Given the description of an element on the screen output the (x, y) to click on. 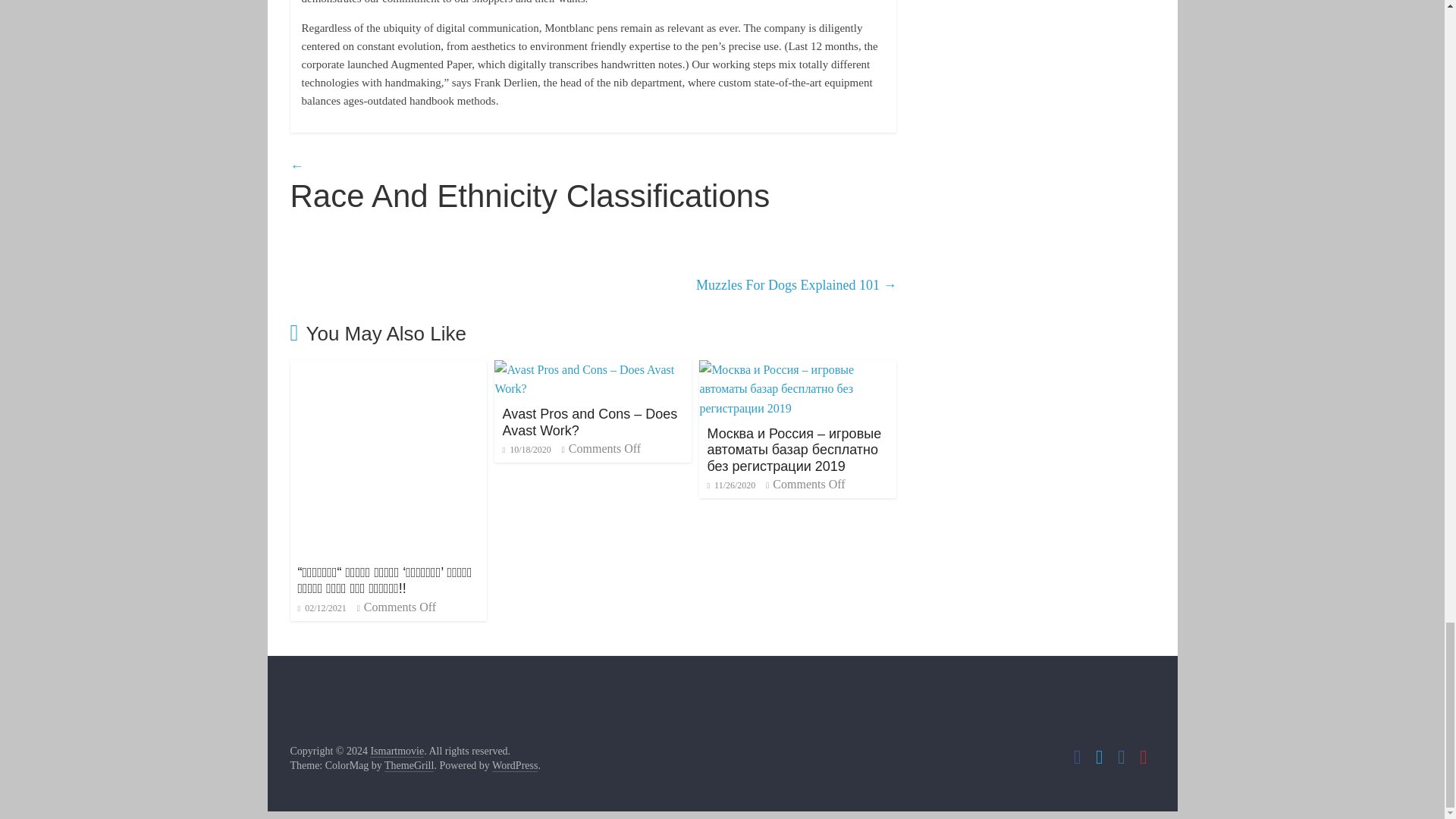
3:51 pm (321, 607)
12:00 am (526, 449)
